Given the description of an element on the screen output the (x, y) to click on. 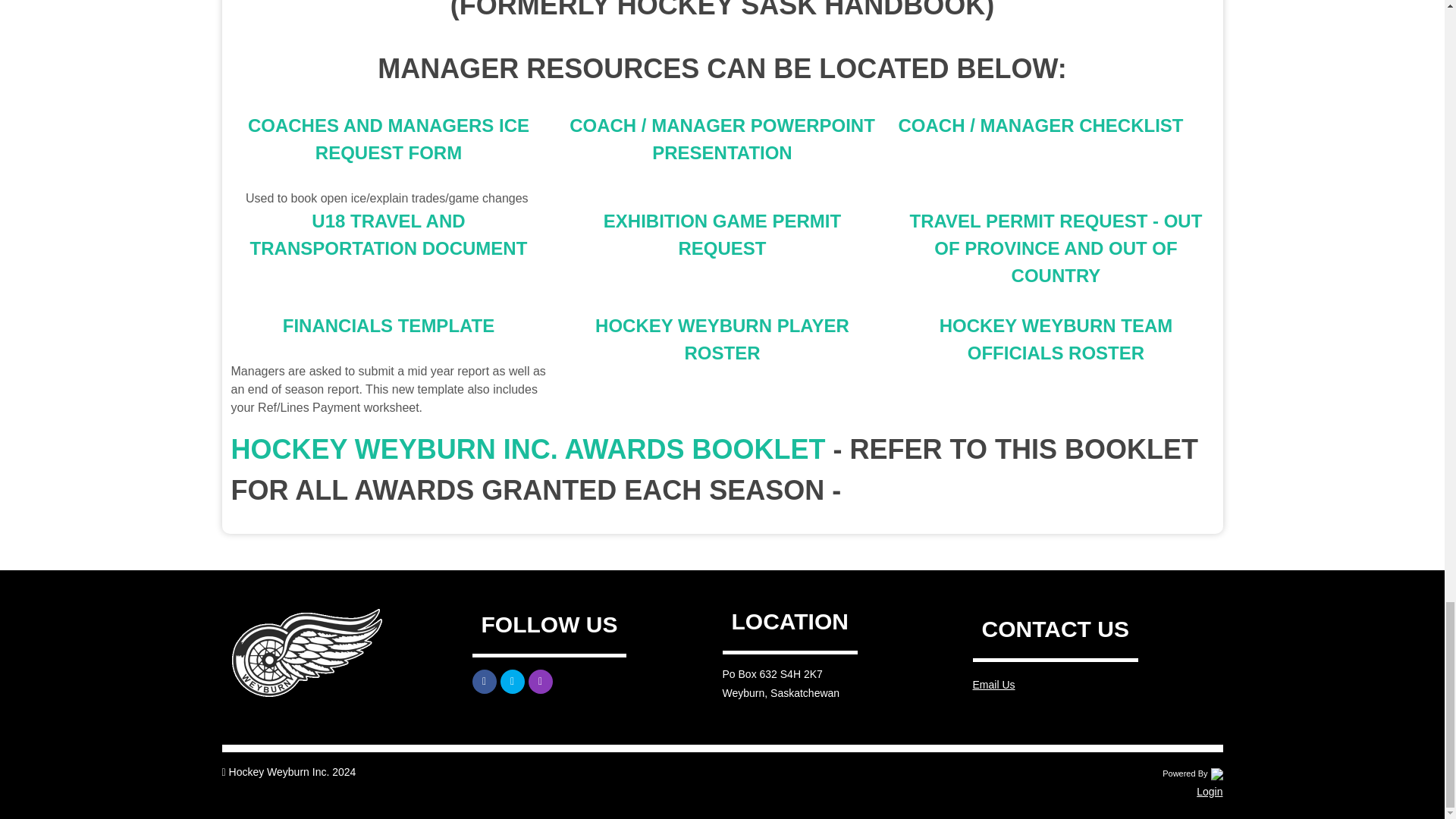
Rich Text Editor, editor5 (721, 68)
Rich Text Editor, editor14 (1055, 339)
EXHIBITION GAME PERMIT REQUEST (722, 234)
COACHES AND MANAGERS ICE REQUEST FORM (388, 138)
Rich Text Editor, editor11 (1055, 248)
TRAVEL PERMIT REQUEST - OUT OF PROVINCE AND OUT OF COUNTRY (1056, 247)
Rich Text Editor, editor8 (1055, 125)
Rich Text Editor, editor4 (721, 12)
Rich Text Editor, editor6 (388, 160)
Rich Text Editor, editor9 (388, 235)
